Given the description of an element on the screen output the (x, y) to click on. 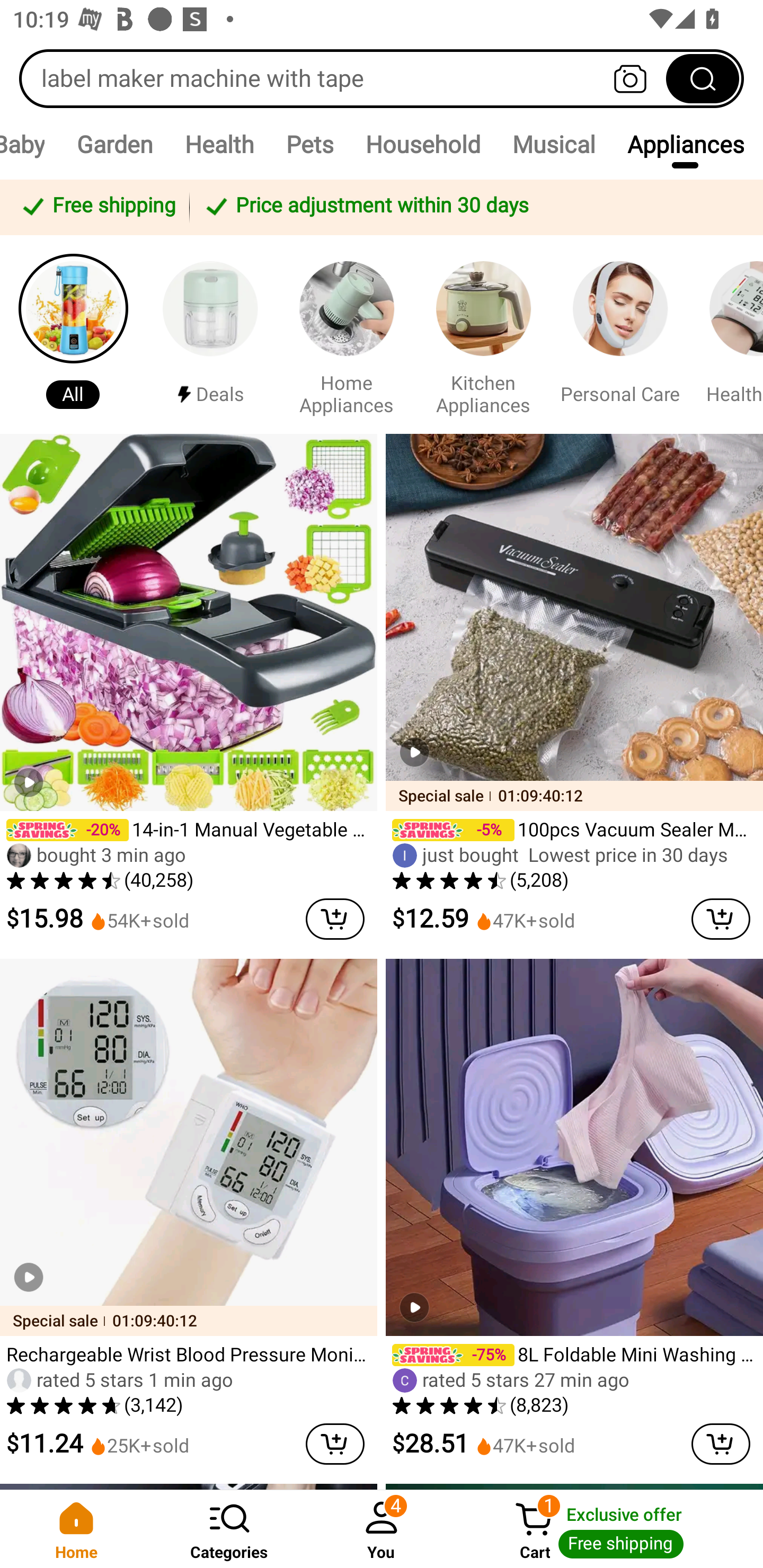
label maker machine with tape (381, 78)
Garden (114, 144)
Health (218, 144)
Pets (309, 144)
Household (422, 144)
Musical (553, 144)
Appliances (685, 144)
Free shipping (97, 206)
Price adjustment within 30 days (472, 206)
All (72, 333)
￼￼Deals (209, 333)
Home Appliances (346, 333)
Kitchen Appliances (482, 333)
Personal Care (619, 333)
Health Care (729, 333)
cart delete (334, 918)
cart delete (720, 918)
cart delete (334, 1443)
cart delete (720, 1443)
Home (76, 1528)
Categories (228, 1528)
You 4 You (381, 1528)
Cart 1 Cart Exclusive offer (610, 1528)
